Given the description of an element on the screen output the (x, y) to click on. 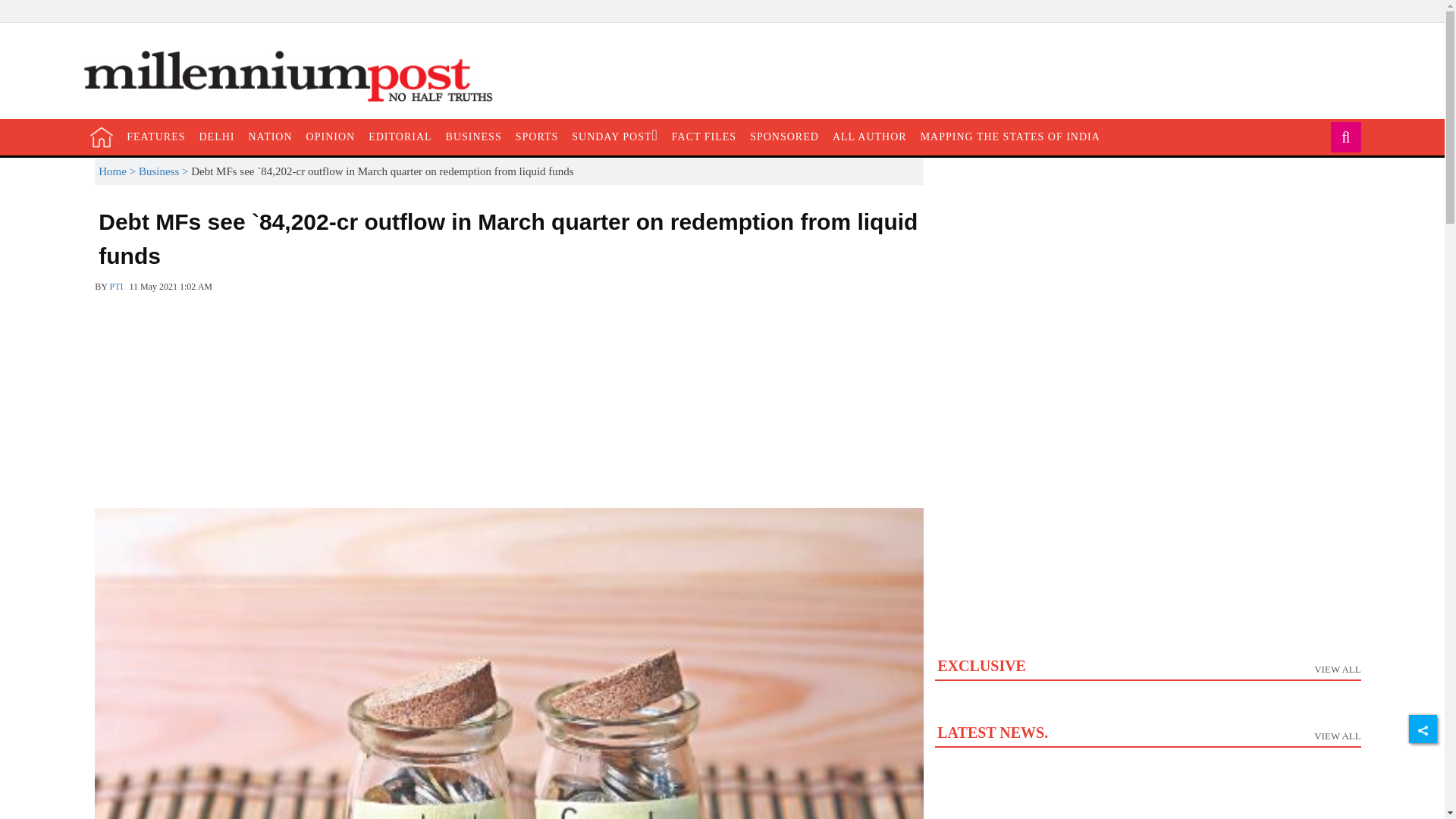
SPORTS (537, 136)
FEATURES (155, 136)
EDITORIAL (399, 136)
NATION (269, 136)
OPINION (330, 136)
SPONSORED (783, 136)
DELHI (216, 136)
home (101, 137)
SUNDAY POST (614, 136)
ALL AUTHOR (869, 136)
BUSINESS (473, 136)
MAPPING THE STATES OF INDIA (1010, 136)
FACT FILES (703, 136)
MillenniumPost (295, 76)
